Given the description of an element on the screen output the (x, y) to click on. 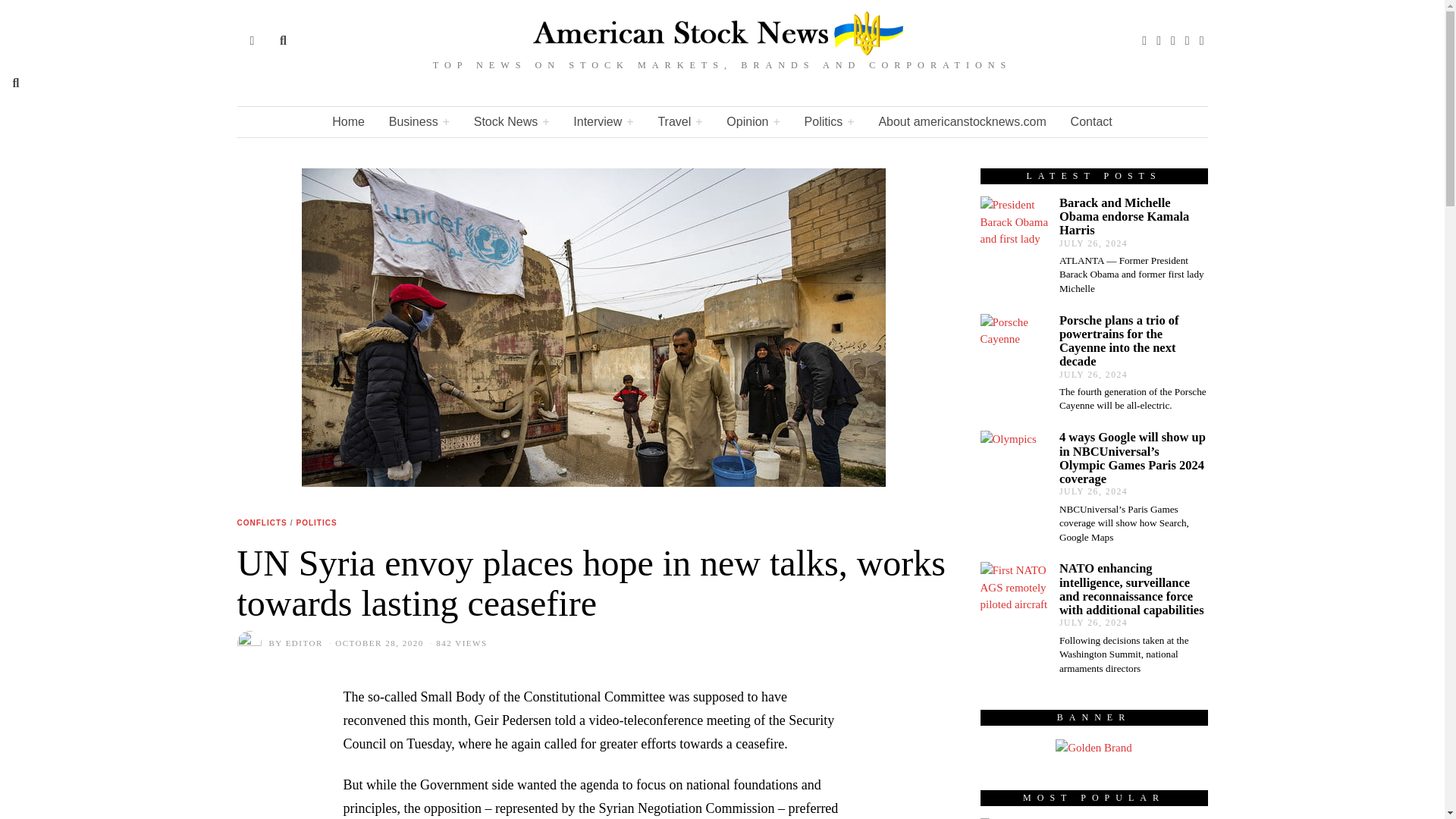
Politics (828, 122)
842 views (456, 643)
Travel (679, 122)
EDITOR (304, 642)
Home (348, 122)
Interview (602, 122)
About americanstocknews.com (962, 122)
POLITICS (315, 523)
Contact (1090, 122)
Stock News (511, 122)
Business (419, 122)
Opinion (753, 122)
CONFLICTS (260, 523)
